Given the description of an element on the screen output the (x, y) to click on. 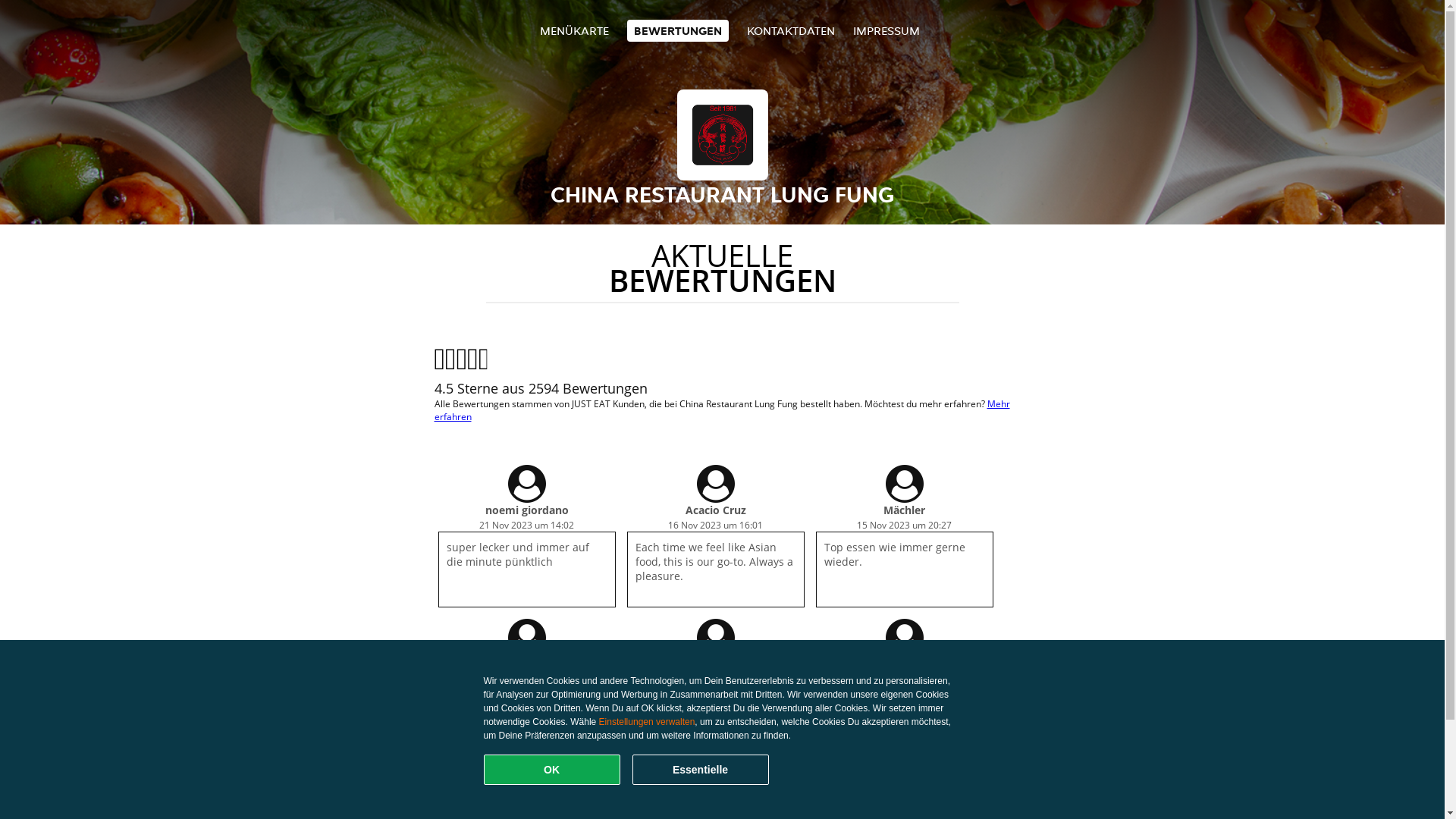
KONTAKTDATEN Element type: text (790, 30)
Essentielle Element type: text (700, 769)
Einstellungen verwalten Element type: text (647, 721)
OK Element type: text (551, 769)
Mehr erfahren Element type: text (721, 410)
BEWERTUNGEN Element type: text (677, 30)
IMPRESSUM Element type: text (886, 30)
